Given the description of an element on the screen output the (x, y) to click on. 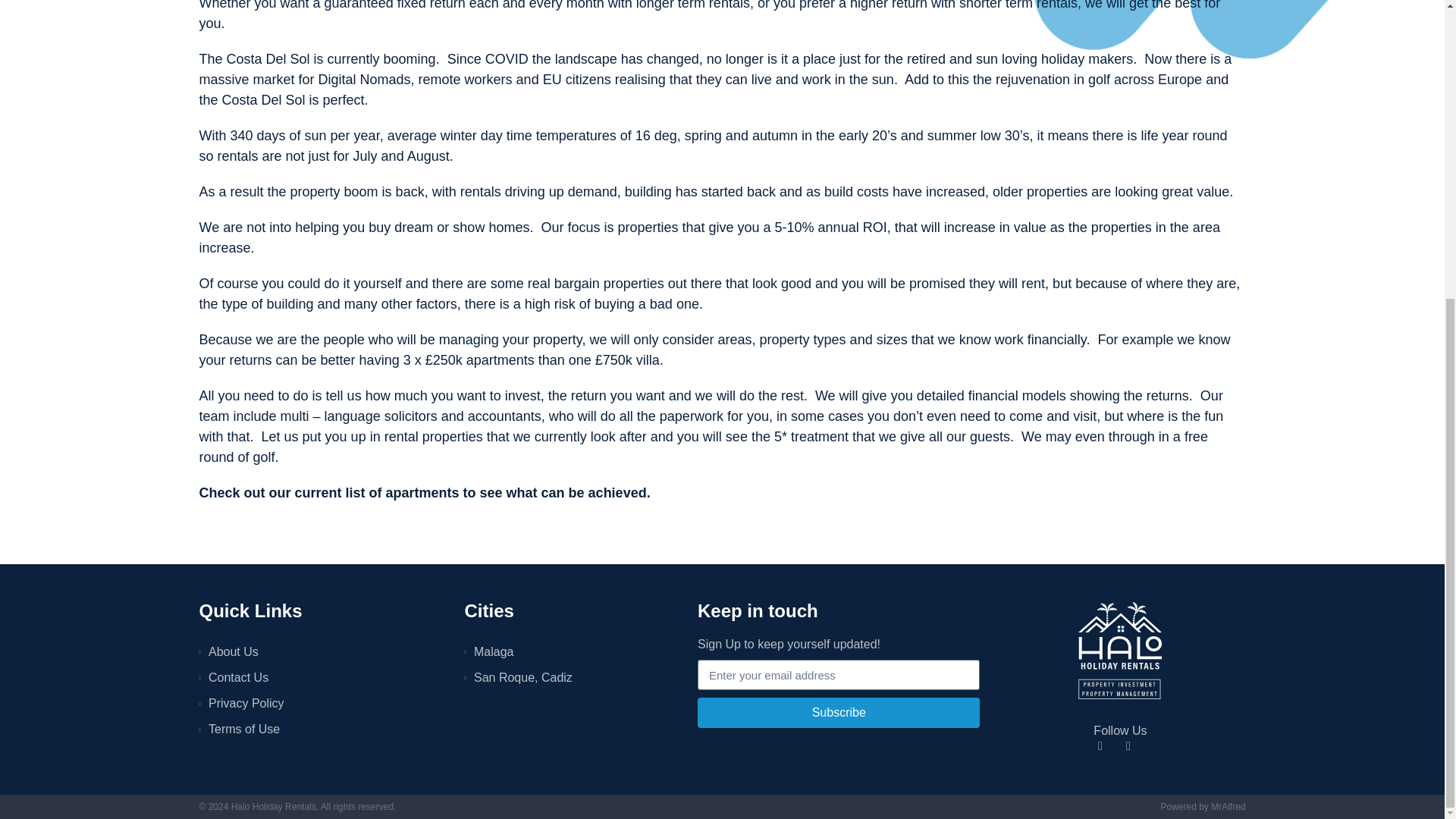
Contact Us (323, 678)
Malaga (573, 651)
San Roque, Cadiz (573, 678)
Terms of Use (323, 729)
Subscribe (838, 712)
Privacy Policy (323, 703)
About Us (323, 651)
